Given the description of an element on the screen output the (x, y) to click on. 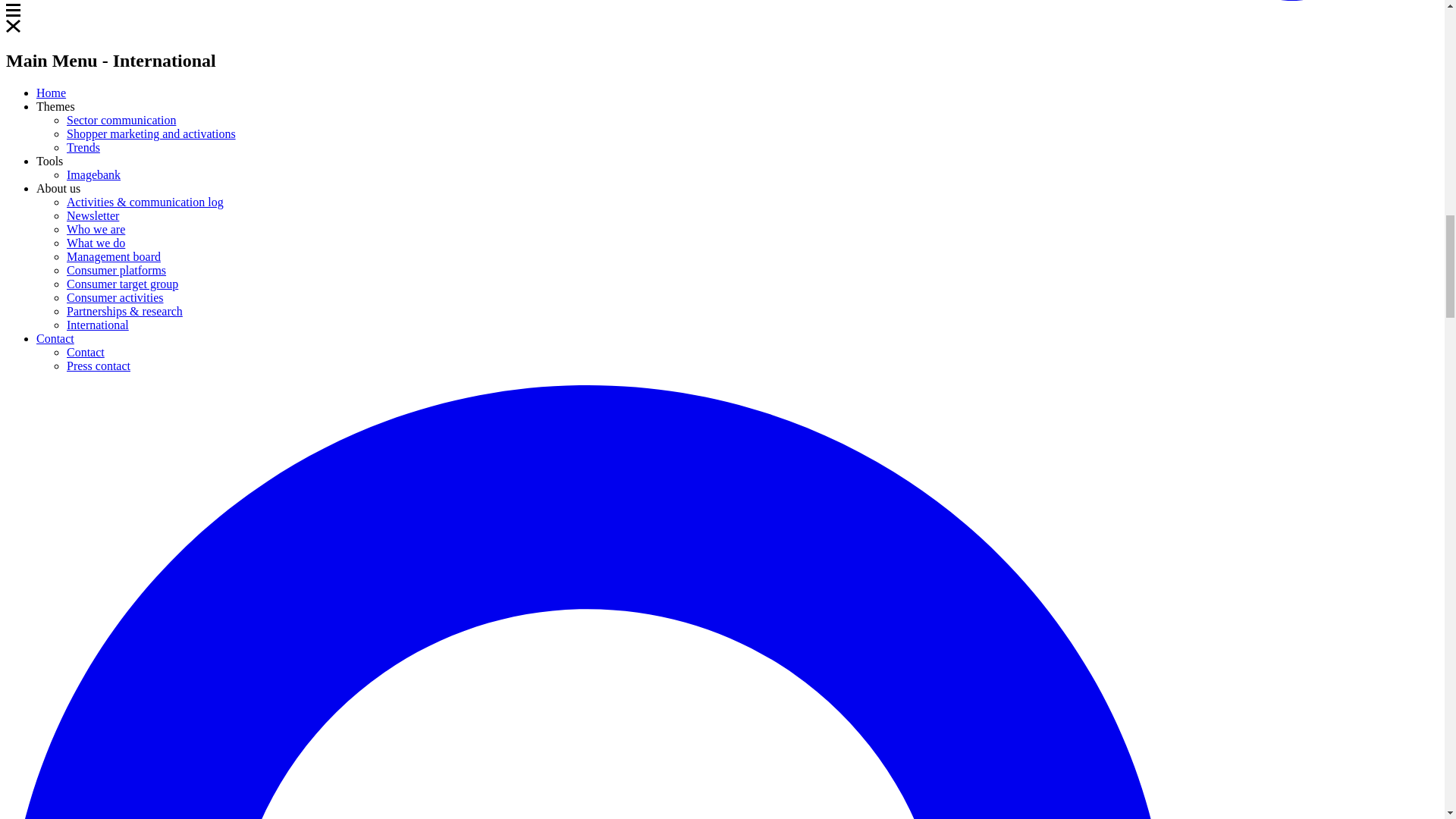
Close (12, 25)
What we do (95, 242)
Contact (85, 351)
Consumer activities (114, 297)
Newsletter (92, 215)
Consumer target group (121, 283)
Contact (55, 338)
Management board (113, 256)
International (97, 324)
Consumer platforms (115, 269)
